Given the description of an element on the screen output the (x, y) to click on. 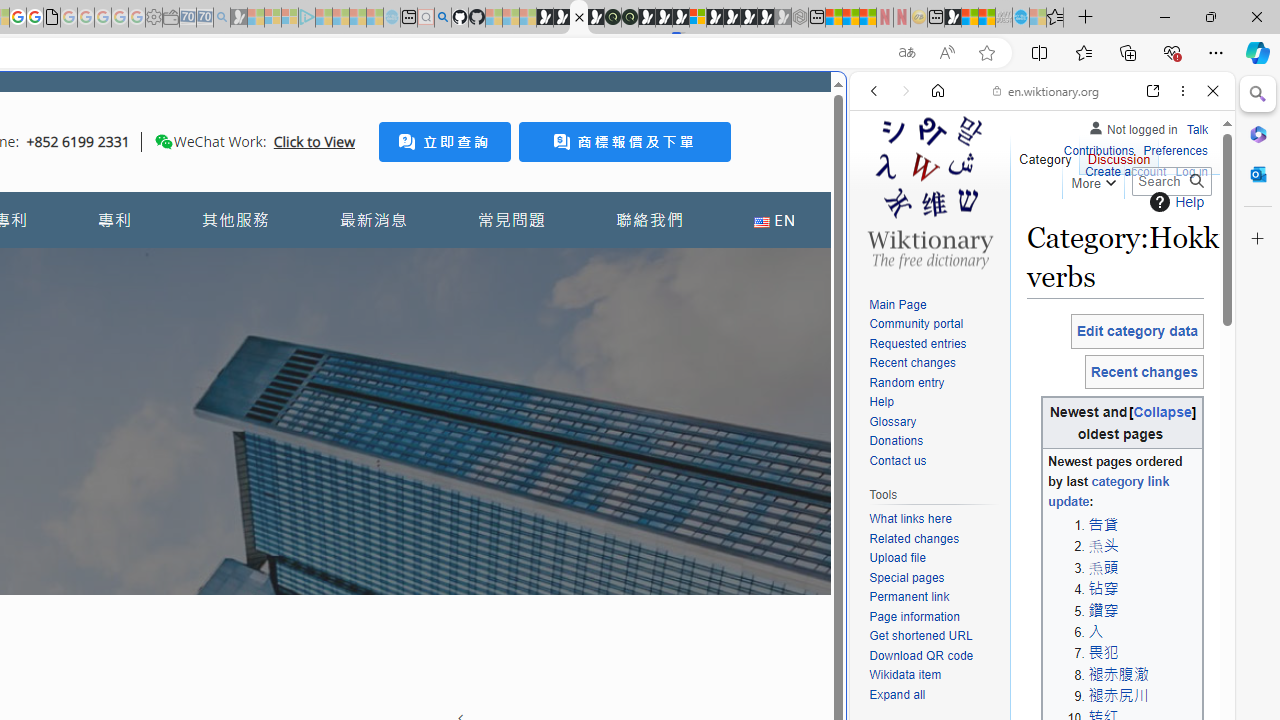
category link update (1108, 492)
Upload file (934, 558)
Log in (1191, 172)
Future Focus Report 2024 (629, 17)
Get shortened URL (934, 637)
